Given the description of an element on the screen output the (x, y) to click on. 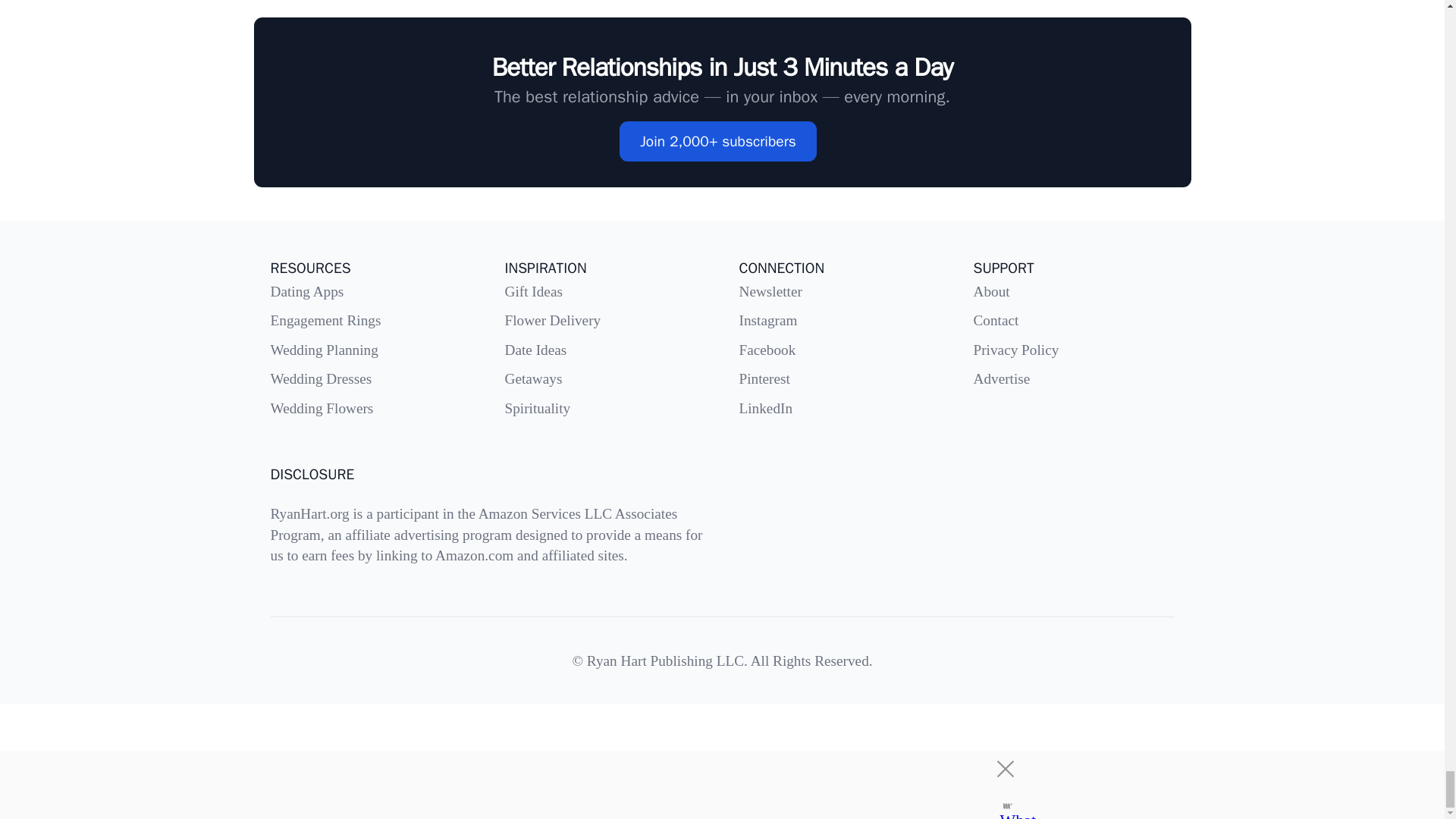
Engagement Rings (324, 320)
Gift Ideas (533, 290)
Spirituality (537, 407)
Flower Delivery (553, 320)
Facebook (766, 349)
Wedding Dresses (320, 378)
Wedding Planning (323, 349)
Dating Apps (306, 290)
Instagram (767, 320)
Wedding Flowers (320, 407)
Newsletter (770, 290)
Date Ideas (536, 349)
Getaways (533, 378)
